Given the description of an element on the screen output the (x, y) to click on. 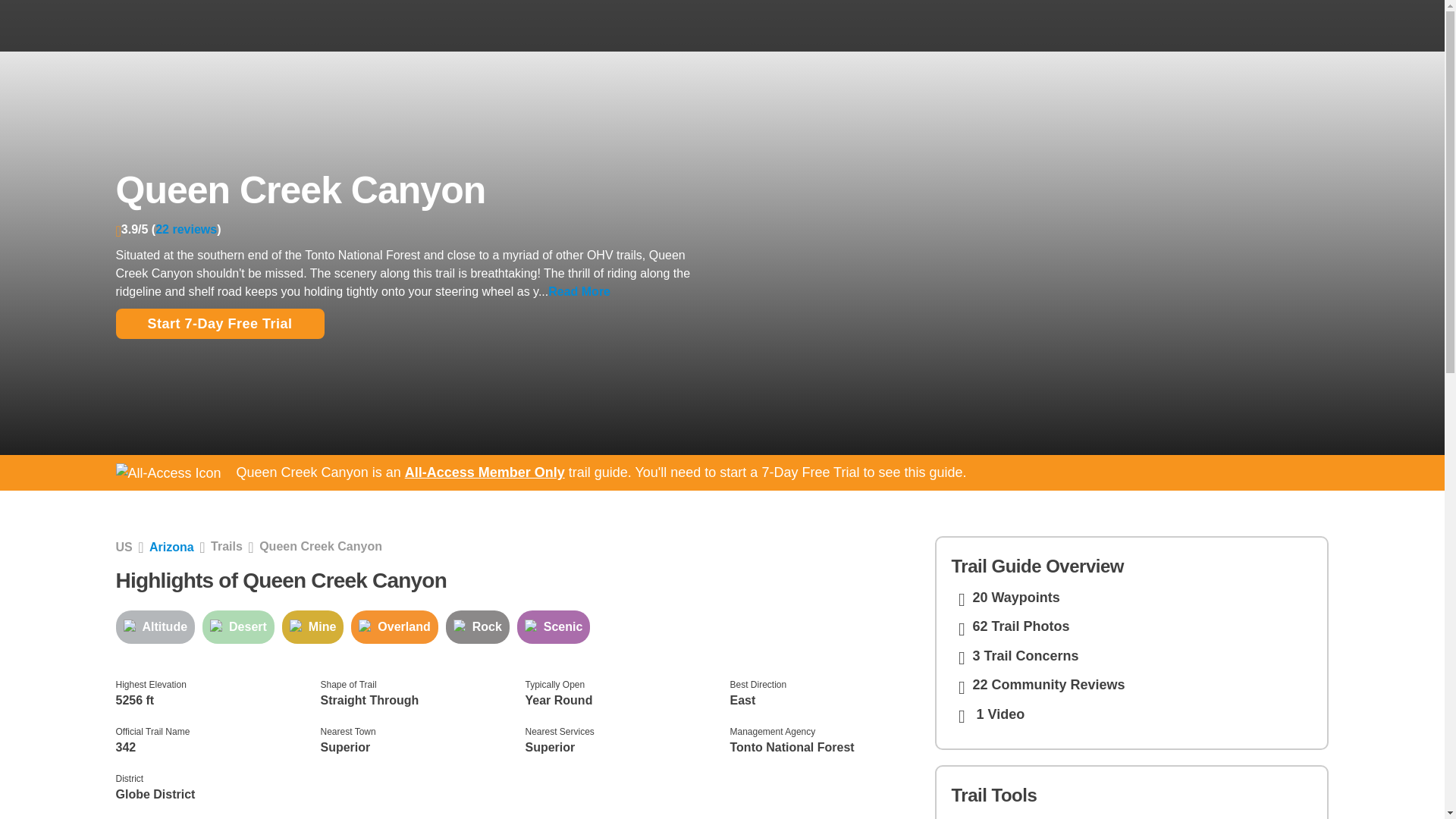
Start 7-Day Free Trial (219, 323)
Arizona (171, 546)
22 reviews (185, 228)
Read More (579, 291)
